Given the description of an element on the screen output the (x, y) to click on. 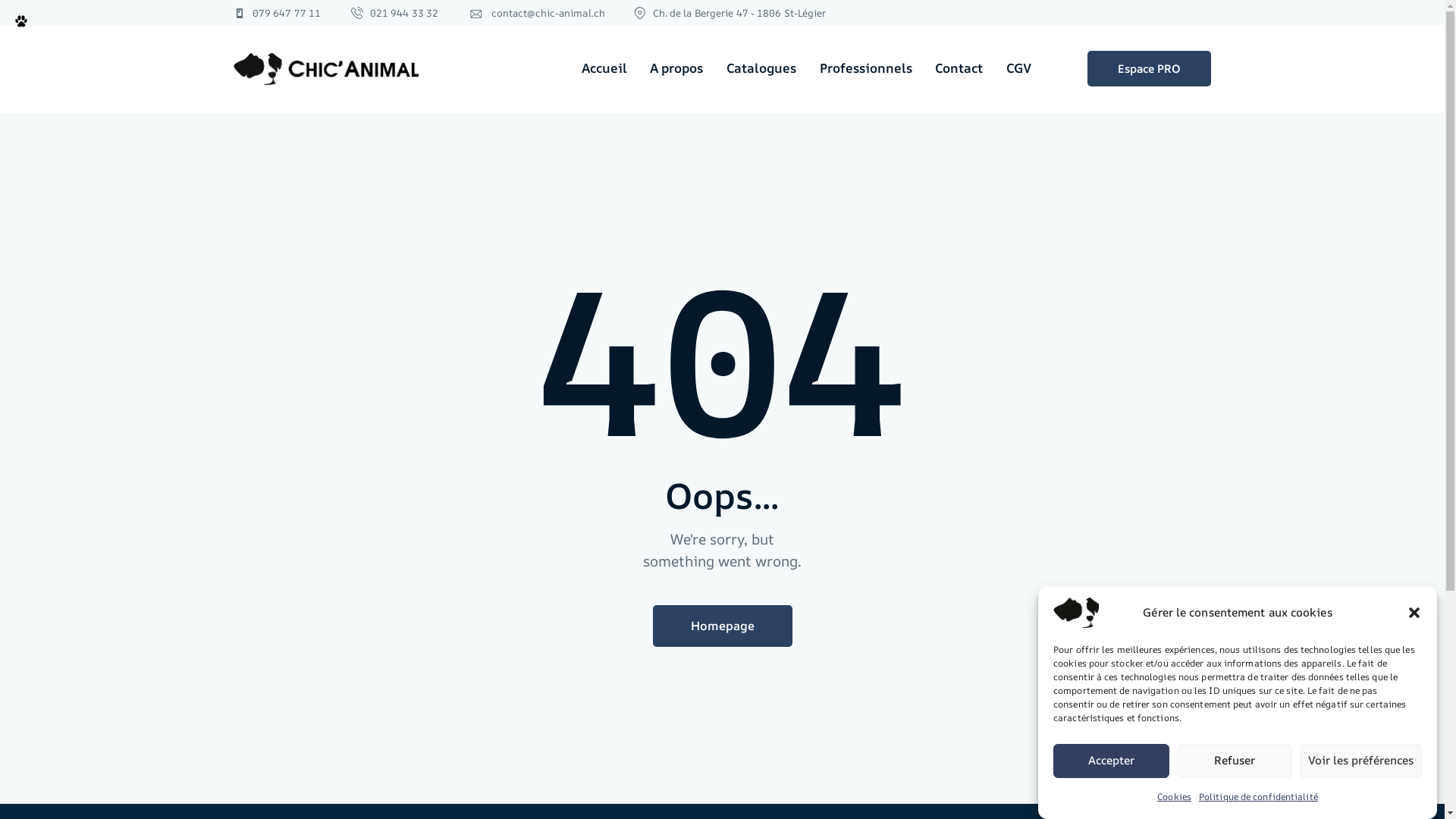
Contact Element type: text (958, 69)
Refuser Element type: text (1234, 760)
Catalogues Element type: text (761, 69)
021 944 33 32 Element type: text (395, 12)
Cookies Element type: text (1174, 796)
Accepter Element type: text (1111, 760)
contact@chic-animal.ch Element type: text (536, 12)
079 647 77 11 Element type: text (277, 12)
CGV Element type: text (1018, 69)
Accueil Element type: text (603, 69)
Espace PRO Element type: text (1149, 68)
A propos Element type: text (676, 69)
Professionnels Element type: text (865, 69)
Homepage Element type: text (721, 625)
